Given the description of an element on the screen output the (x, y) to click on. 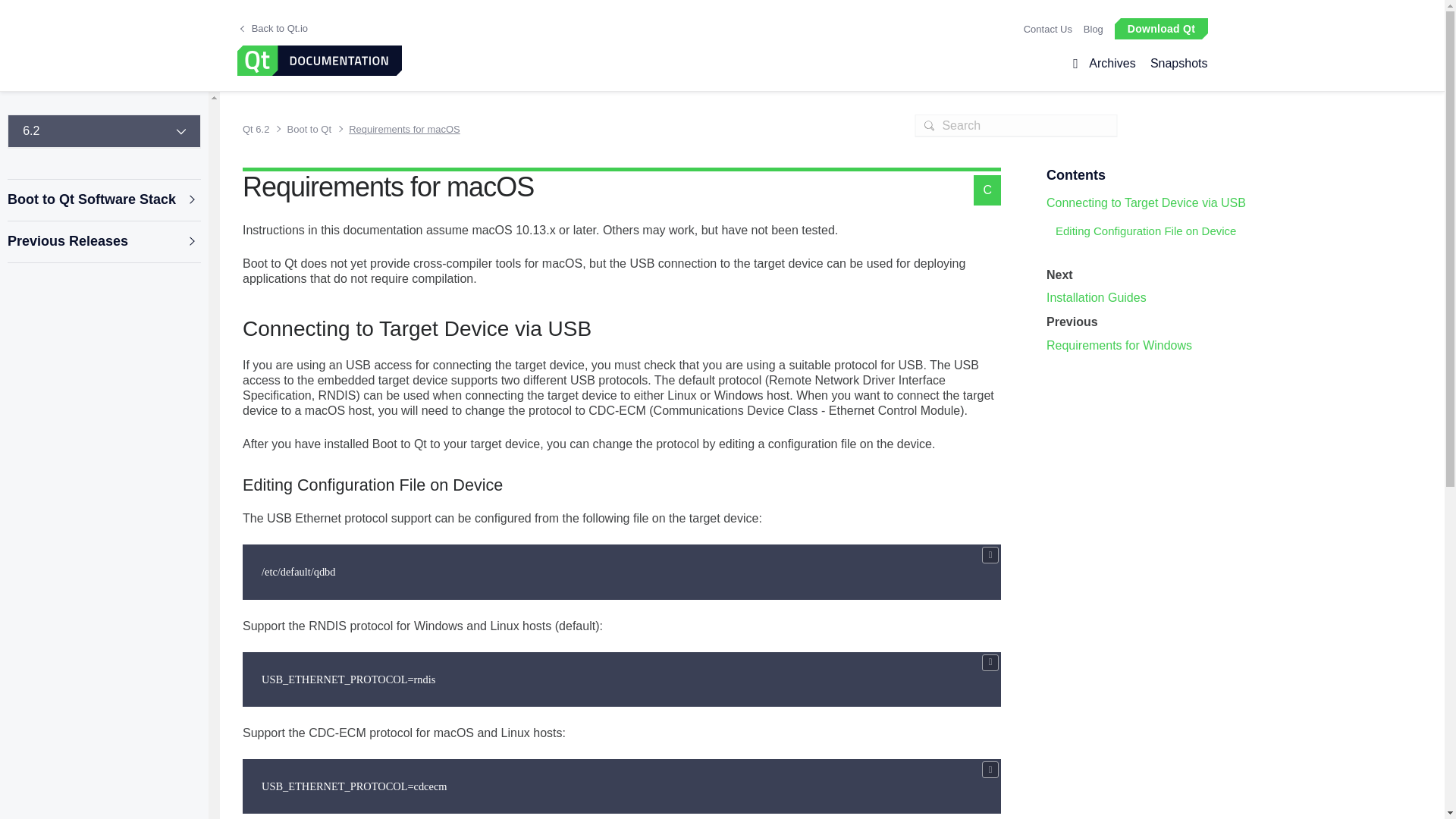
Qt 6.2 (259, 129)
Boot to Qt Software Stack (103, 199)
Requirements for macOS (398, 129)
Previous Releases (103, 241)
Download Qt (1160, 27)
Blog (1093, 28)
Archives (1111, 63)
Contact Us (1047, 28)
Boot to Qt (306, 129)
Snapshots (1174, 63)
Back to Qt.io (273, 28)
